Given the description of an element on the screen output the (x, y) to click on. 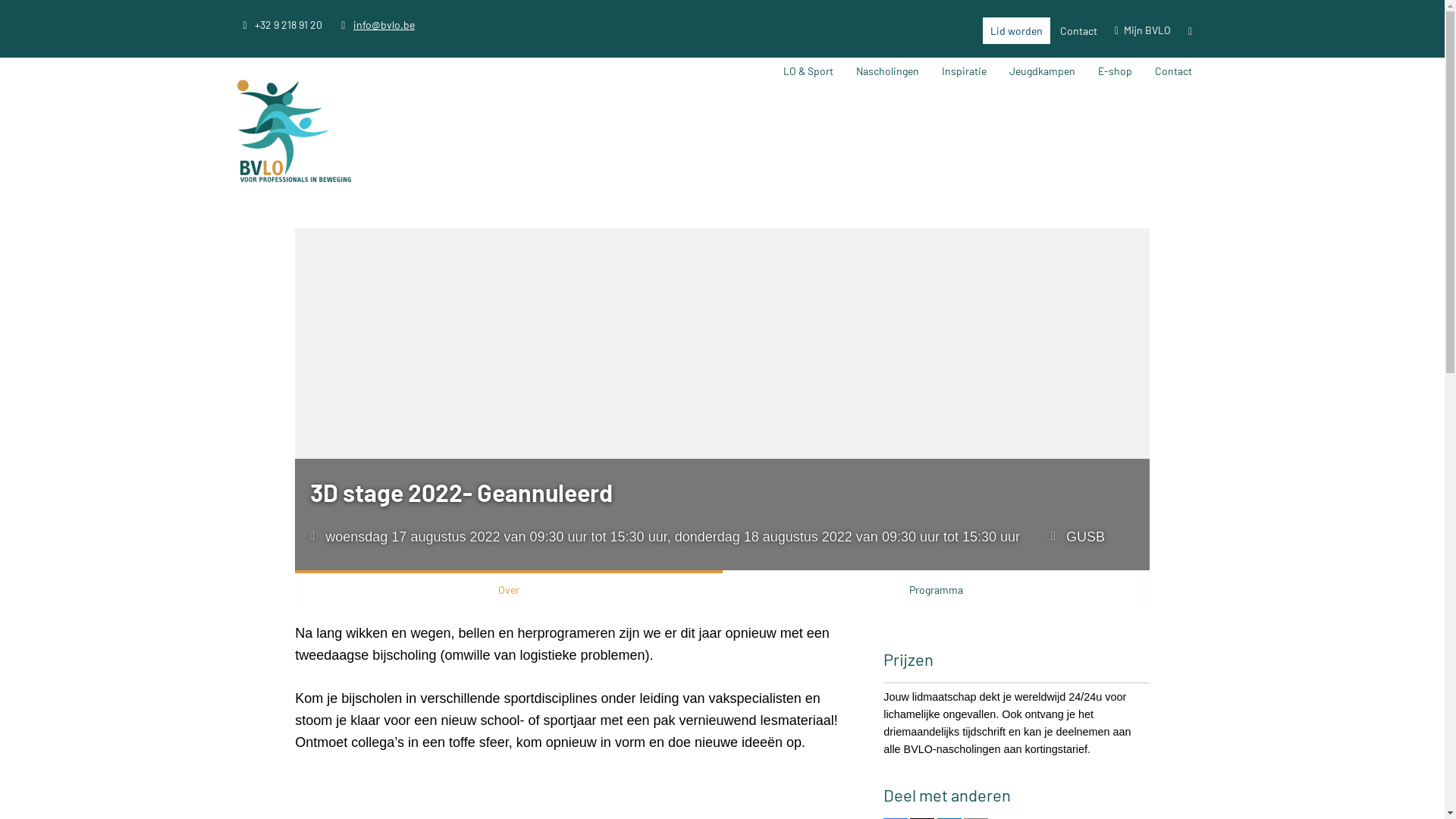
Ons e-mailadres:
info@bvlo.be Element type: text (374, 24)
LO & Sport Element type: text (807, 70)
Aanmelden voor de nieuwsbrief Element type: text (1226, 104)
Over Element type: text (507, 588)
Terug naar de homepage Element type: hover (293, 133)
Programma Element type: text (934, 588)
Secretariaat Element type: text (1226, 97)
Apps voor de les LO Element type: text (1013, 97)
Log in Element type: text (1152, 53)
Contact Element type: text (1078, 30)
E-shop Element type: text (1114, 70)
Jeugdkampen Element type: text (1041, 70)
Contact Element type: text (1173, 70)
GUSB Element type: text (1085, 536)
Lid worden Element type: text (1016, 30)
Inspiratie Element type: text (963, 70)
Nascholingen Element type: text (887, 70)
BVLO aanbod Element type: text (927, 97)
Mijn BVLO Element type: text (1142, 29)
Over BVLO Element type: text (854, 97)
